Given the description of an element on the screen output the (x, y) to click on. 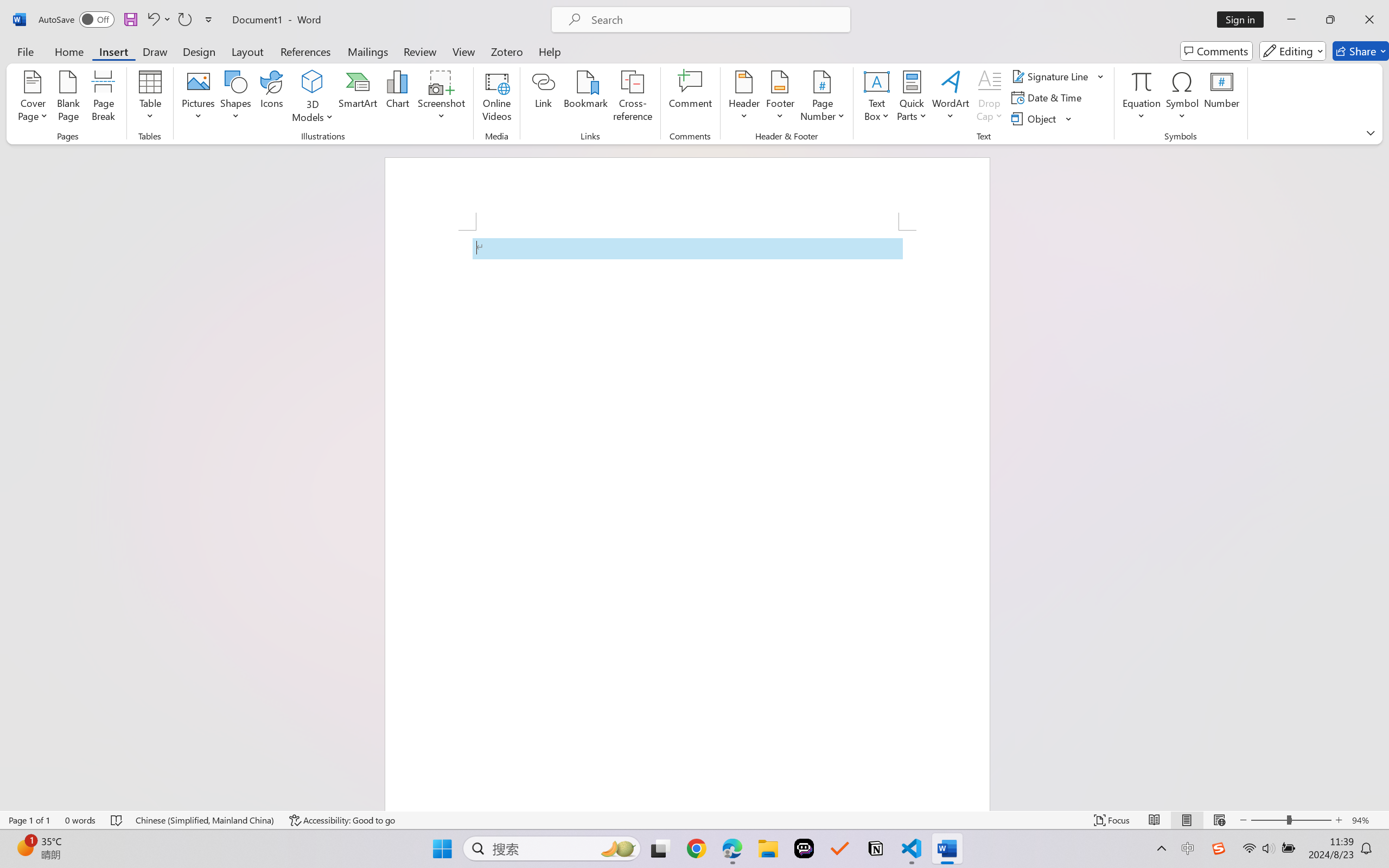
Undo Apply Quick Style (158, 19)
Symbol (1181, 97)
Text Box (876, 97)
SmartArt... (358, 97)
Object... (1042, 118)
Equation (1141, 97)
Number... (1221, 97)
Link (543, 97)
Icons (271, 97)
